Given the description of an element on the screen output the (x, y) to click on. 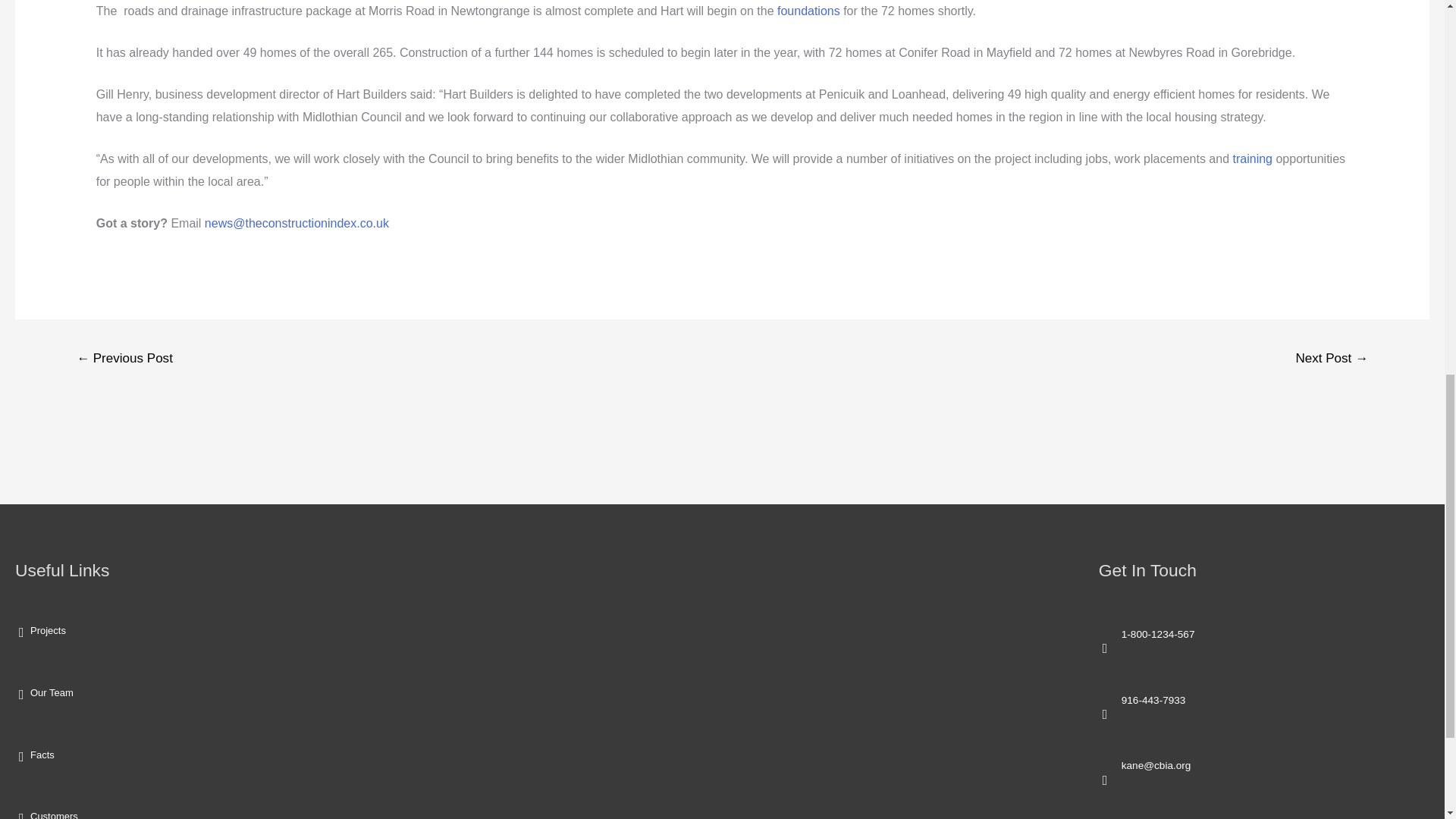
Projects (47, 630)
Search for suppliers of Training (1252, 158)
Search for suppliers of Foundations (808, 10)
training (1252, 158)
Our Team (52, 692)
Customers (54, 814)
Facts (42, 754)
foundations (808, 10)
